Given the description of an element on the screen output the (x, y) to click on. 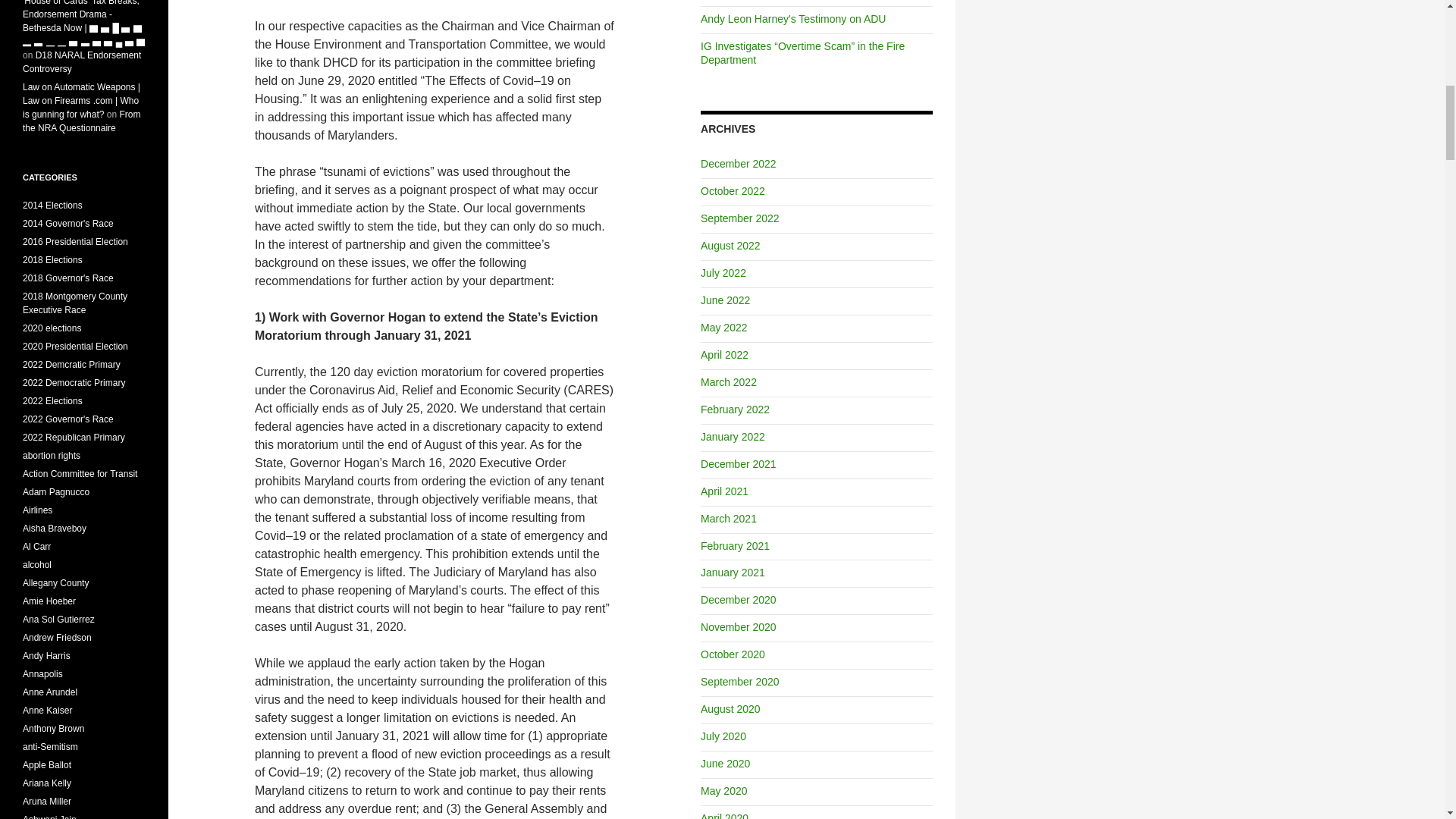
October 2022 (732, 191)
Andy Leon Harney's Testimony on ADU (792, 19)
December 2022 (738, 163)
